Given the description of an element on the screen output the (x, y) to click on. 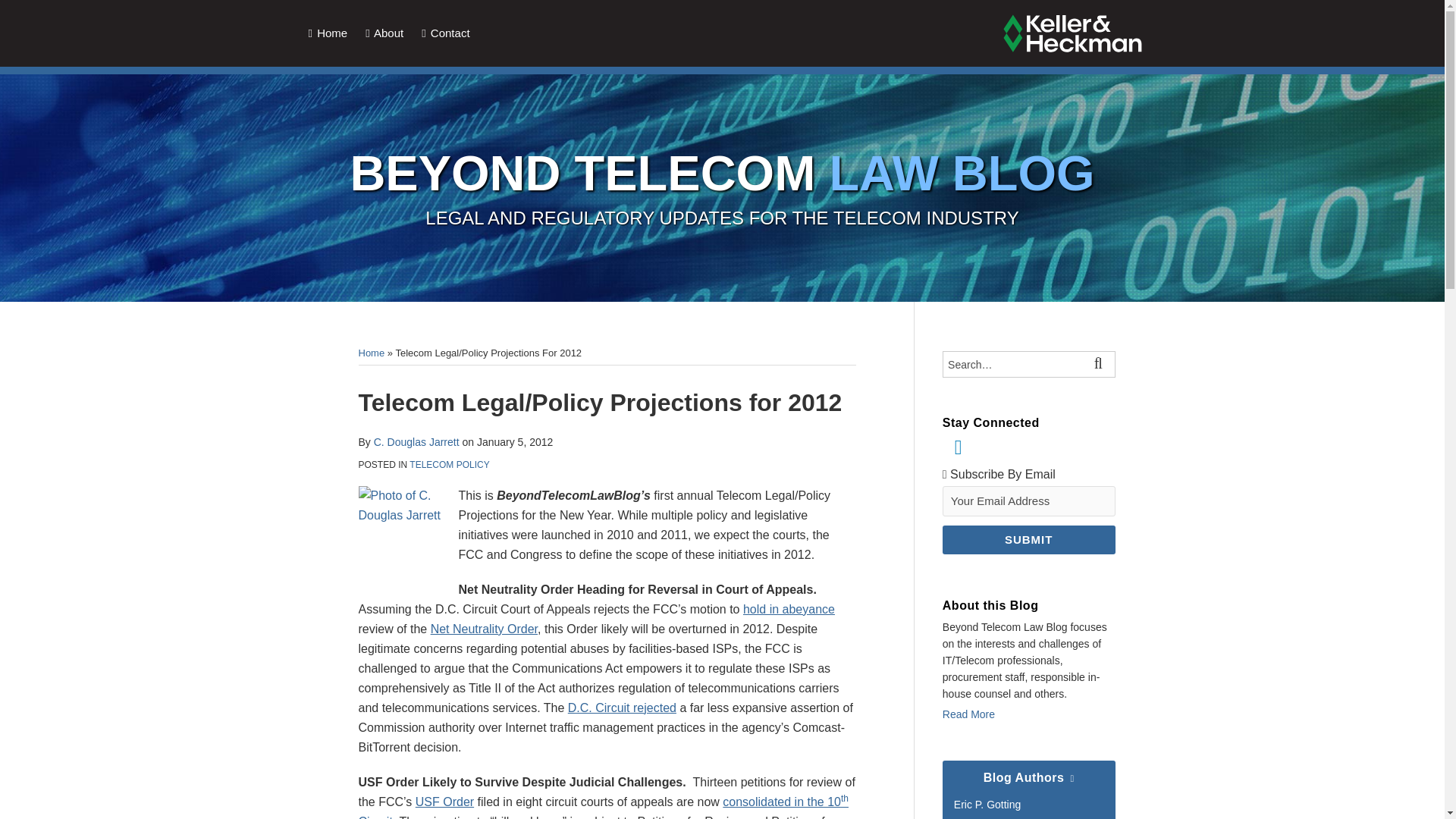
USF Order (444, 800)
C. Douglas Jarrett (417, 441)
Contact (445, 33)
Home (327, 33)
Home (371, 352)
Submit (1028, 538)
hold in abeyance (788, 608)
Submit (1028, 538)
TELECOM POLICY (449, 464)
SEARCH (1101, 364)
